Given the description of an element on the screen output the (x, y) to click on. 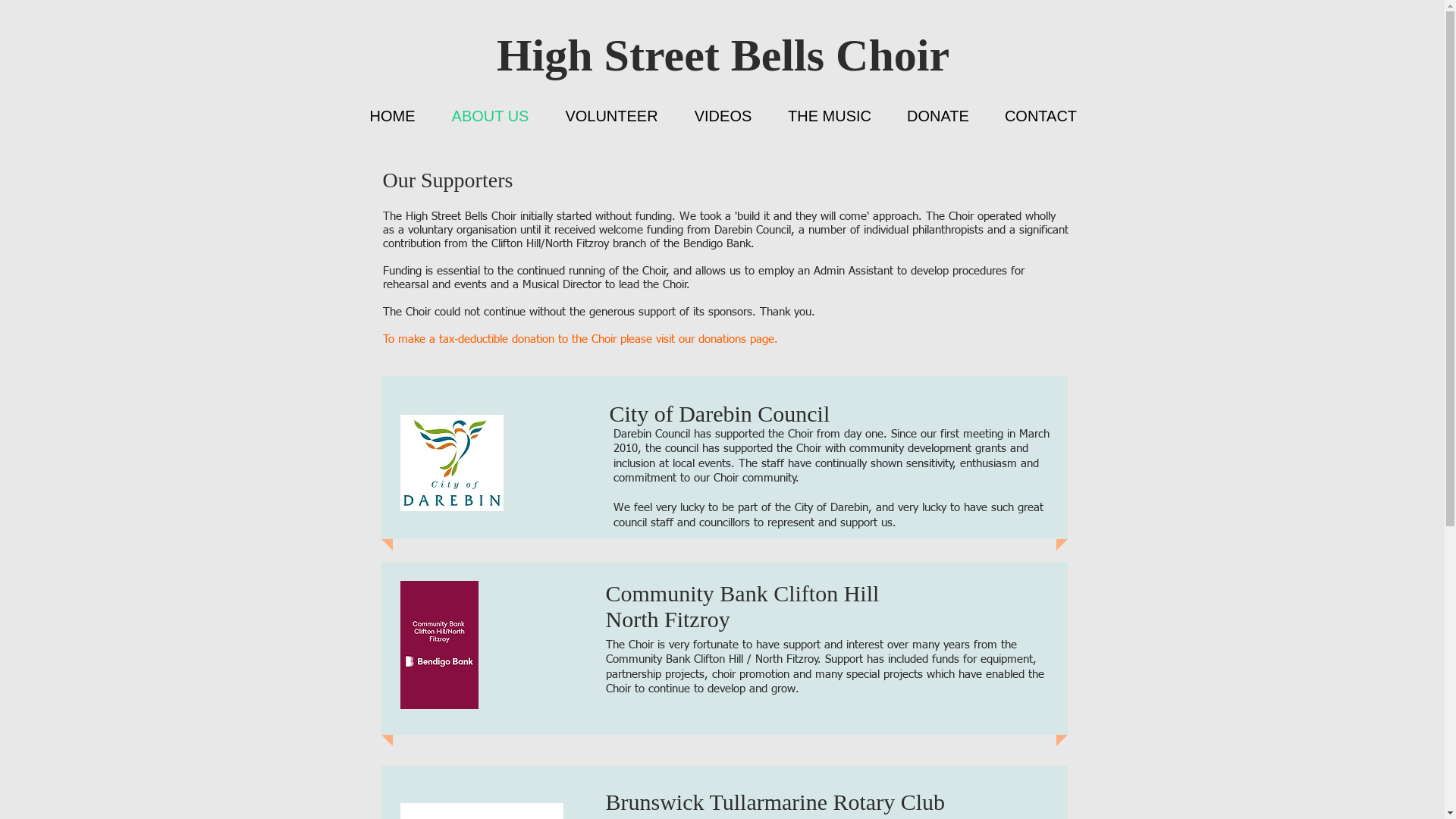
VOLUNTEER Element type: text (611, 116)
CONTACT Element type: text (1041, 116)
donations page Element type: text (735, 339)
HOME Element type: text (392, 116)
darebin_logo_2_1000x935 (1) (1).jpg Element type: hover (451, 462)
local events Element type: text (700, 463)
THE MUSIC Element type: text (829, 116)
DONATE Element type: text (937, 116)
ABOUT US Element type: text (490, 116)
VIDEOS Element type: text (723, 116)
